Given the description of an element on the screen output the (x, y) to click on. 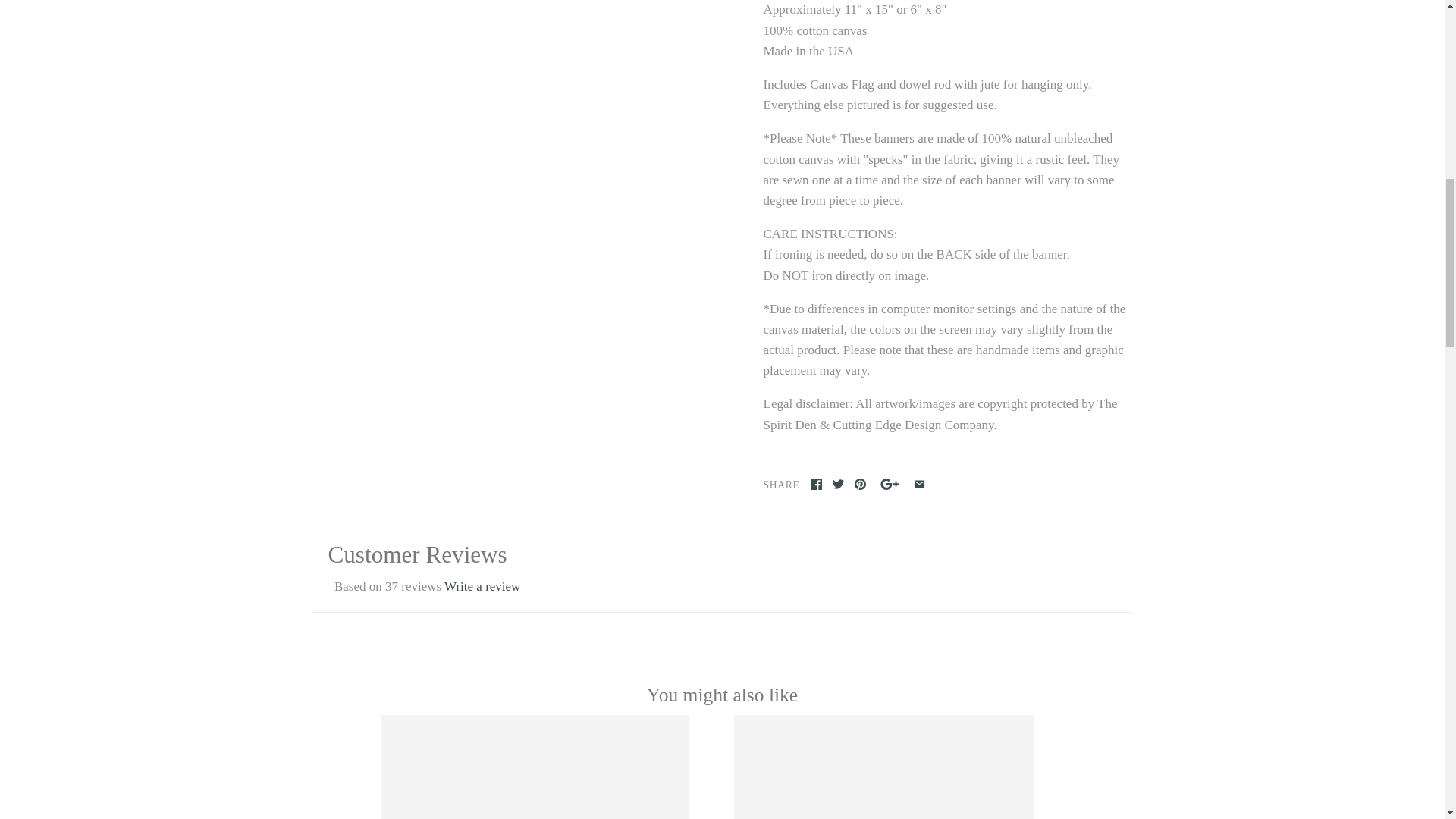
Email (919, 483)
Pin the main image (860, 483)
Facebook (816, 483)
Pinterest (860, 483)
Share on Twitter (838, 483)
Share on Facebook (816, 483)
Share using email (919, 483)
Twitter (838, 483)
GooglePlus (889, 483)
